Given the description of an element on the screen output the (x, y) to click on. 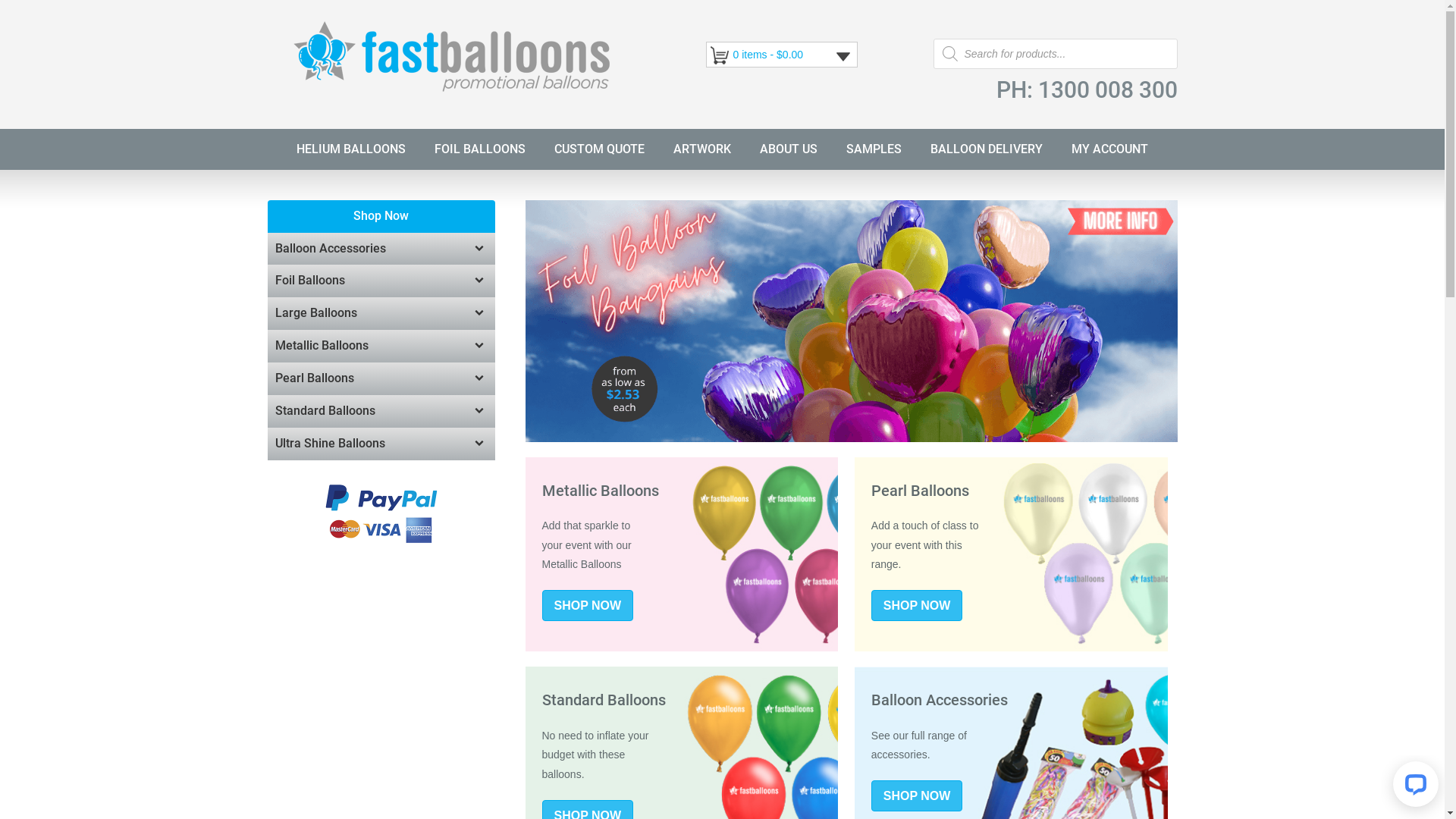
ARTWORK Element type: text (702, 148)
SHOP NOW Element type: text (917, 605)
0 items - $0.00 Element type: text (767, 54)
1300 008 300 Element type: text (1106, 89)
SHOP NOW Element type: text (917, 795)
FOIL BALLOONS Element type: text (479, 148)
SAMPLES Element type: text (873, 148)
BALLOON DELIVERY Element type: text (986, 148)
CUSTOM QUOTE Element type: text (599, 148)
SHOP NOW Element type: text (587, 605)
HELIUM BALLOONS Element type: text (350, 148)
ABOUT US Element type: text (788, 148)
MY ACCOUNT Element type: text (1109, 148)
